Given the description of an element on the screen output the (x, y) to click on. 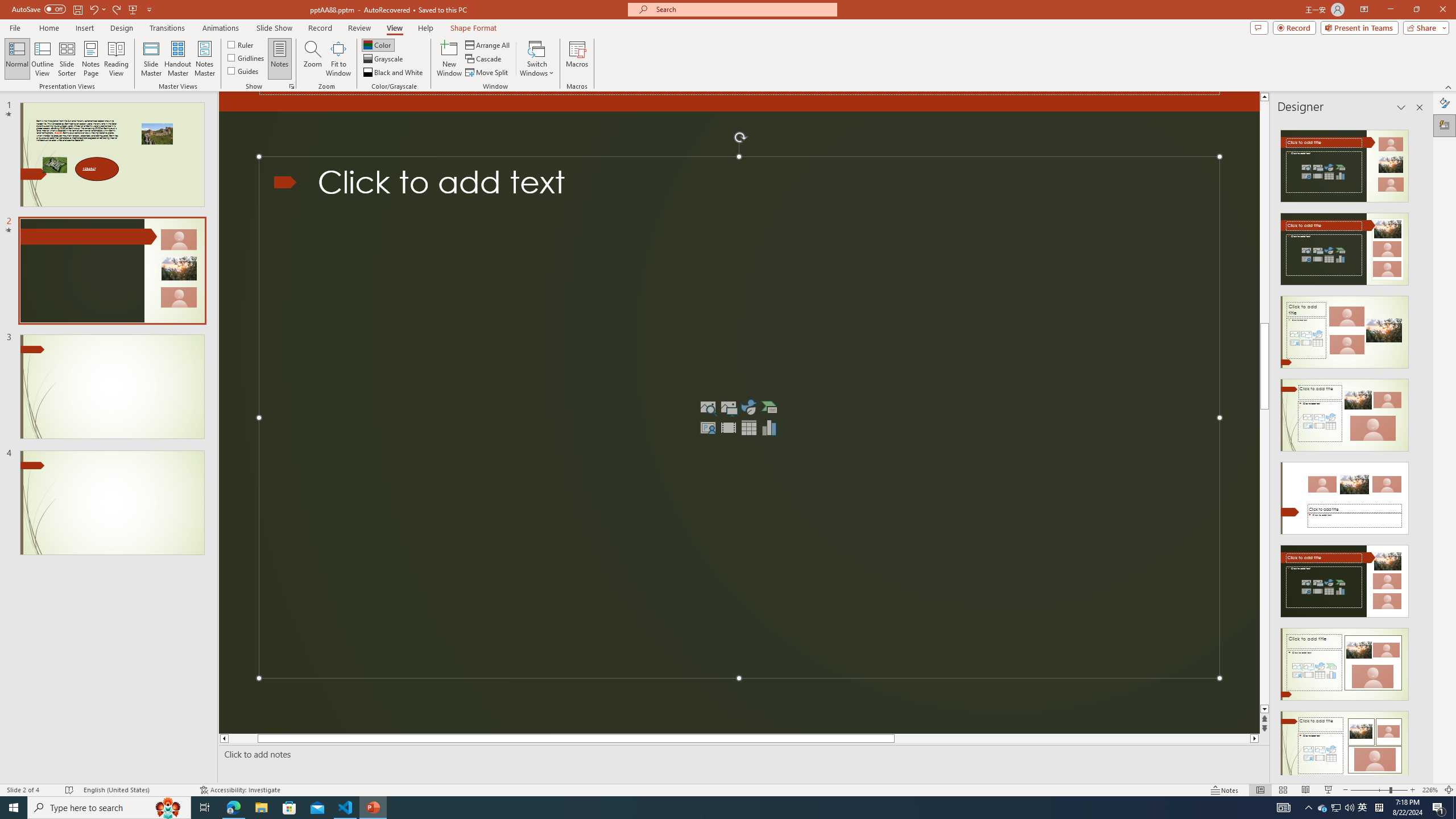
Notes Page (90, 58)
